Given the description of an element on the screen output the (x, y) to click on. 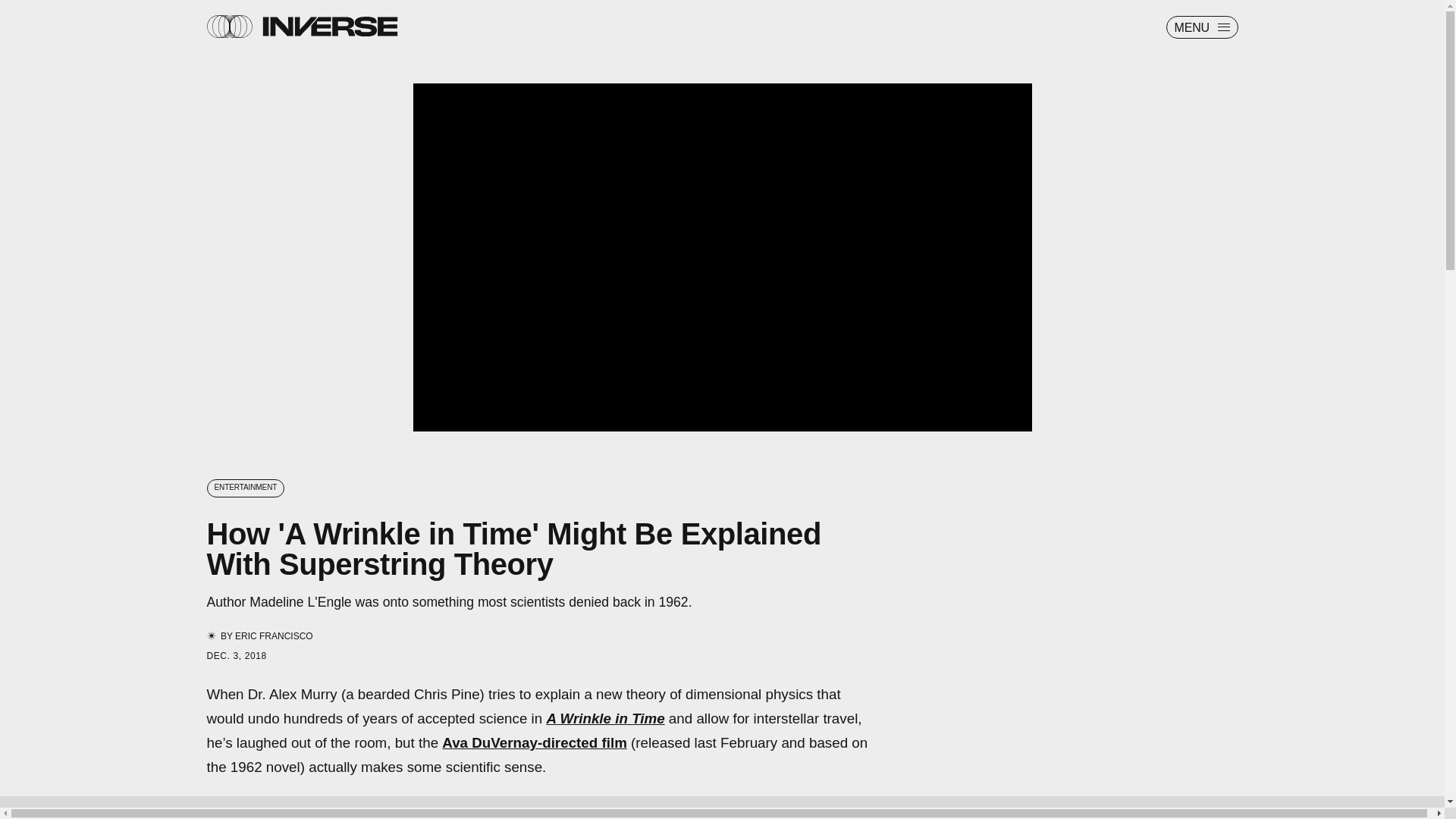
Inverse (328, 26)
A Wrinkle in Time (604, 718)
ERIC FRANCISCO (273, 635)
Ava DuVernay-directed film (534, 742)
